Given the description of an element on the screen output the (x, y) to click on. 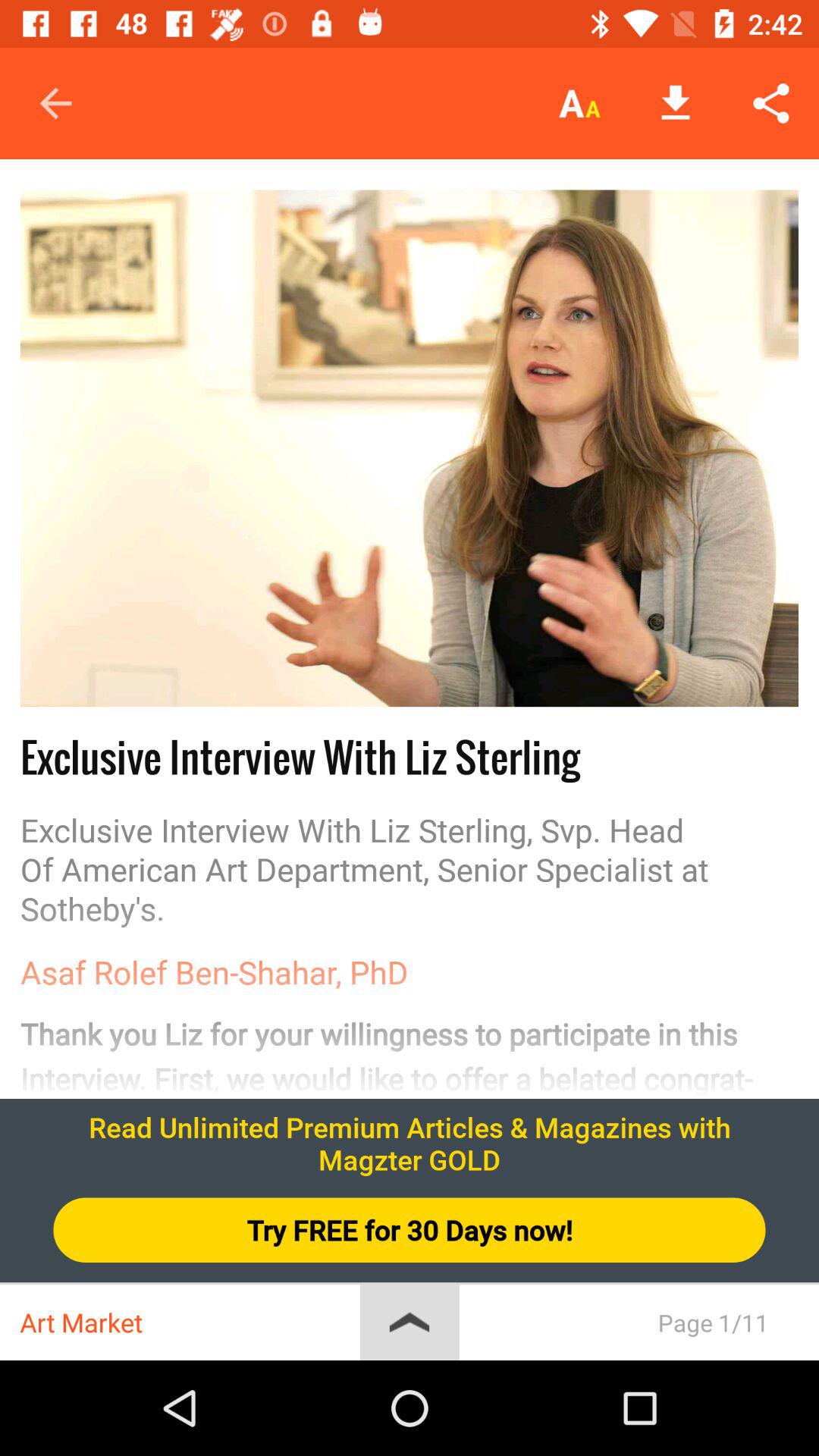
open art market icon (189, 1322)
